Given the description of an element on the screen output the (x, y) to click on. 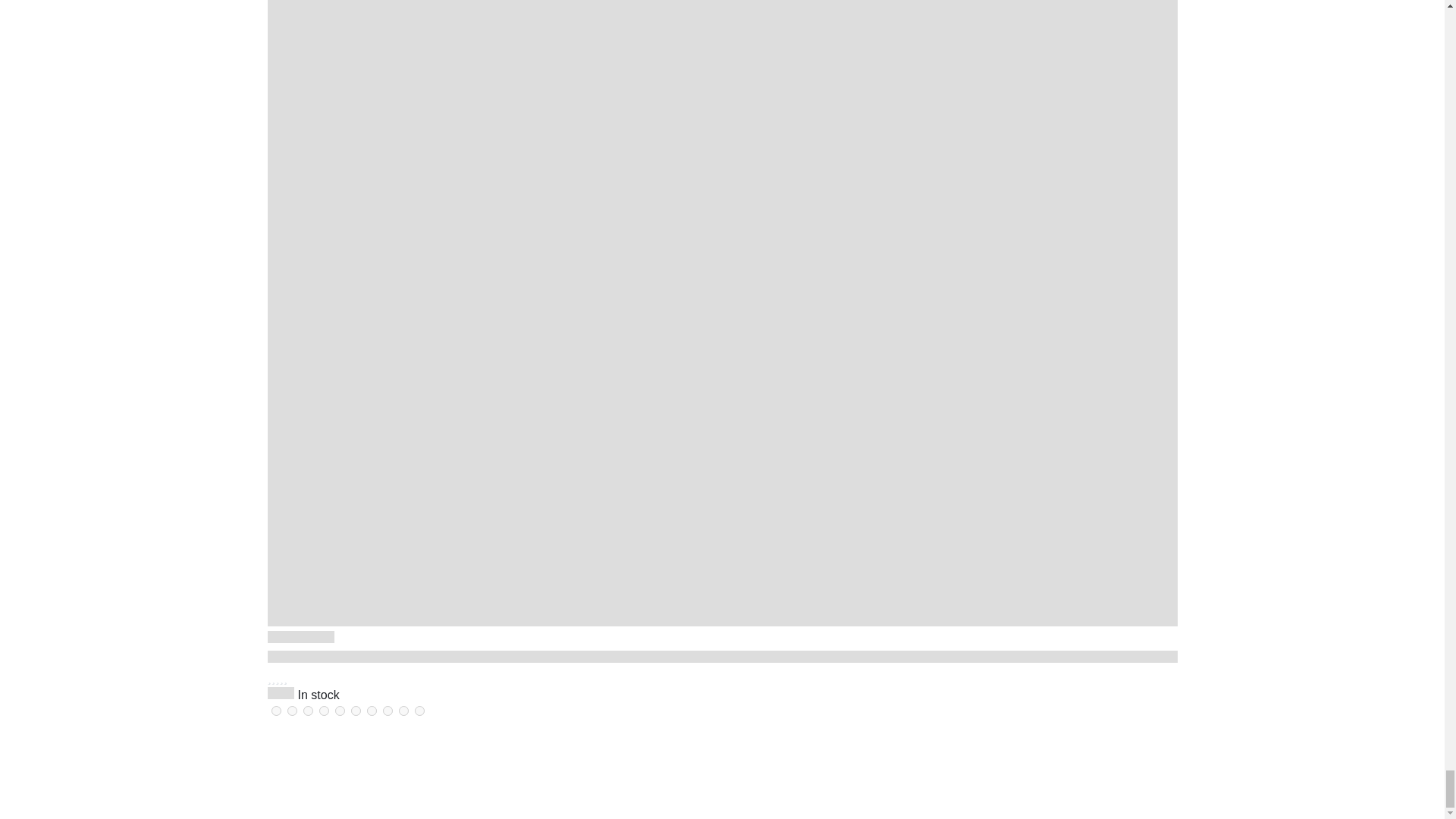
on (403, 710)
on (307, 710)
on (323, 710)
on (339, 710)
on (275, 710)
on (371, 710)
on (354, 710)
on (291, 710)
on (386, 710)
